Given the description of an element on the screen output the (x, y) to click on. 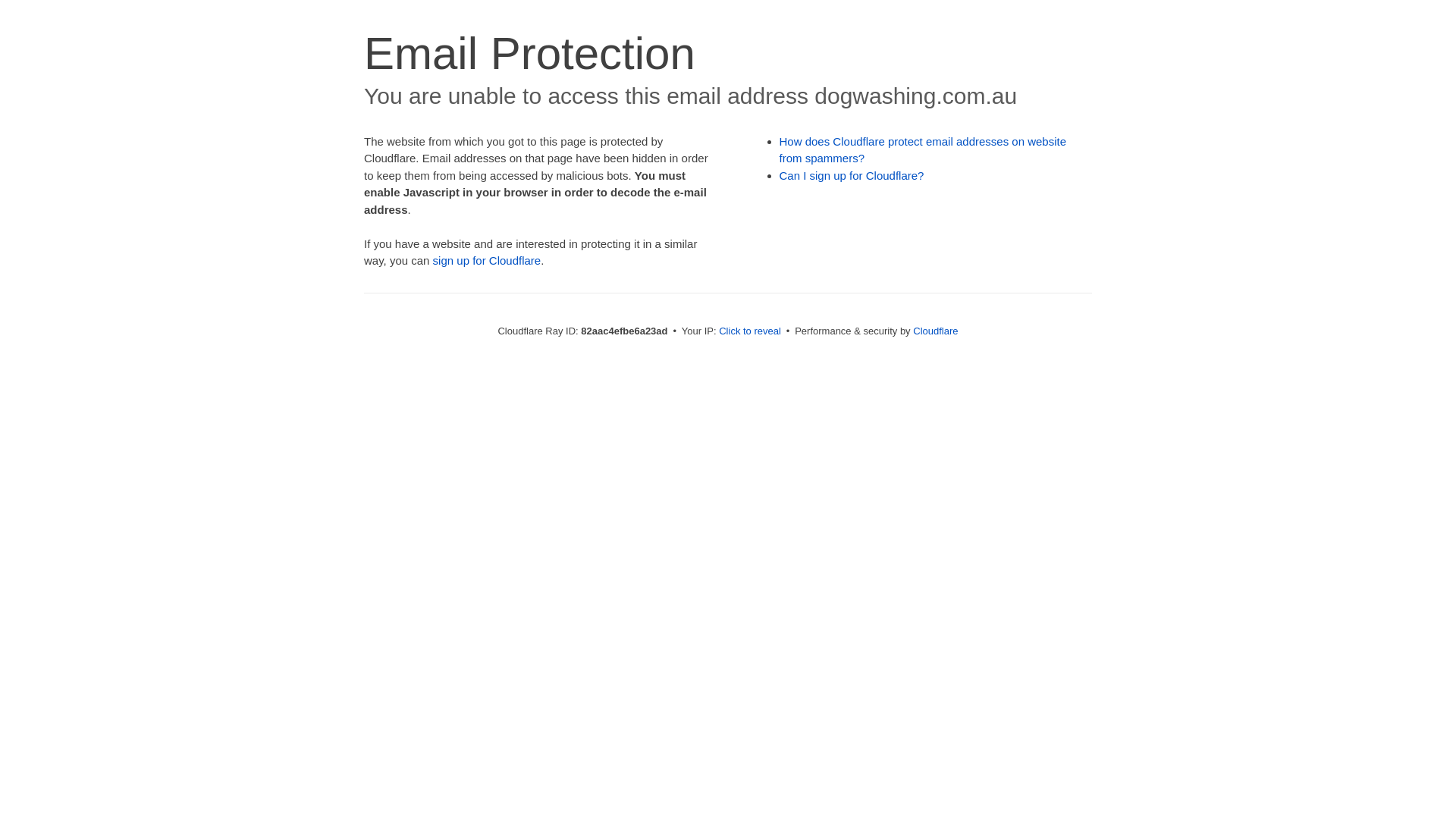
Cloudflare Element type: text (935, 330)
Can I sign up for Cloudflare? Element type: text (851, 175)
Click to reveal Element type: text (749, 330)
sign up for Cloudflare Element type: text (487, 260)
